Given the description of an element on the screen output the (x, y) to click on. 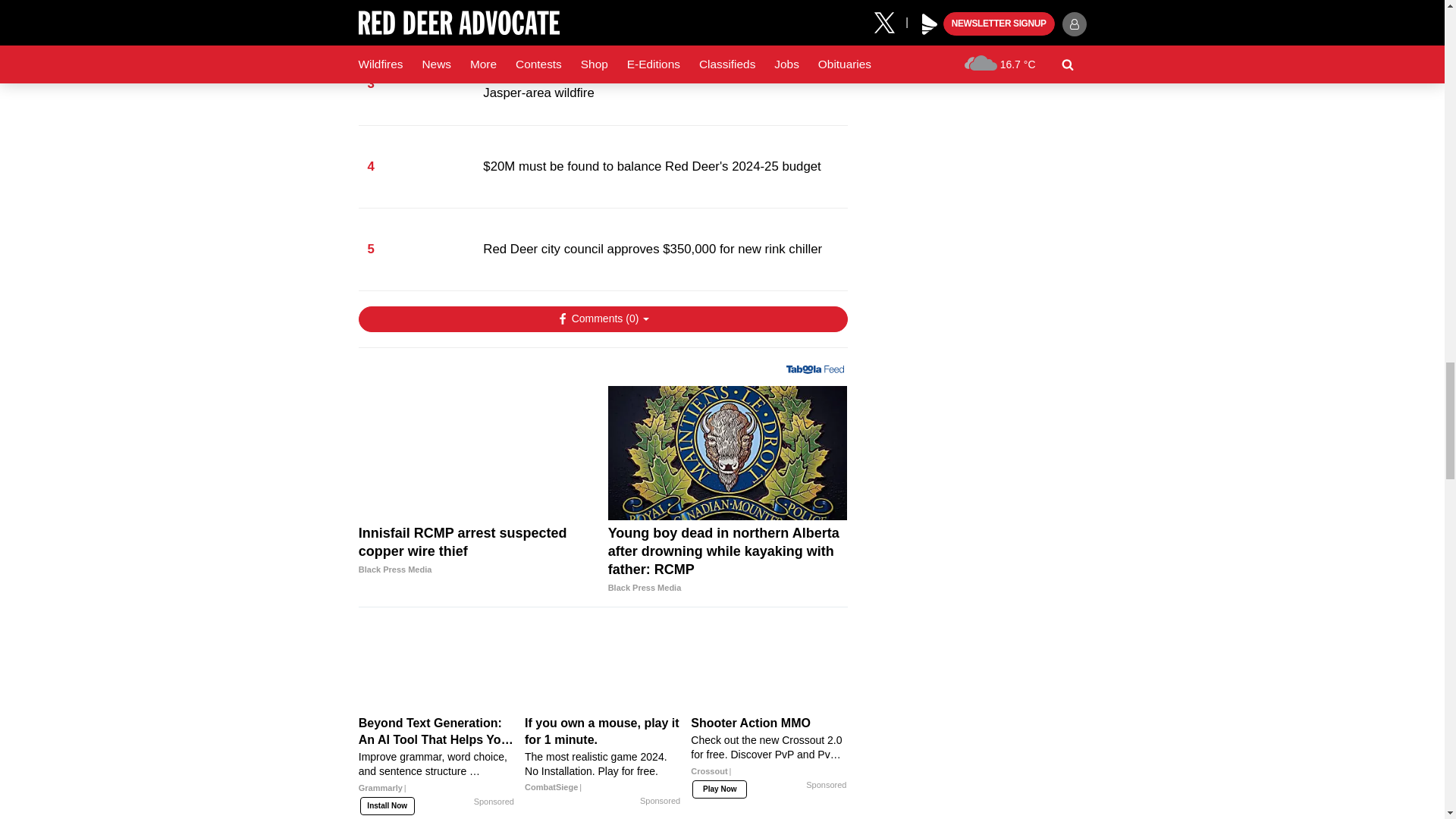
Innisfail RCMP arrest suspected copper wire thief (478, 452)
Shooter Action MMO (768, 751)
If you own a mouse, play it for 1 minute. (602, 667)
Innisfail RCMP arrest suspected copper wire thief (478, 551)
Shooter Action MMO (768, 667)
If you own a mouse, play it for 1 minute. (602, 754)
Show Comments (602, 319)
